Given the description of an element on the screen output the (x, y) to click on. 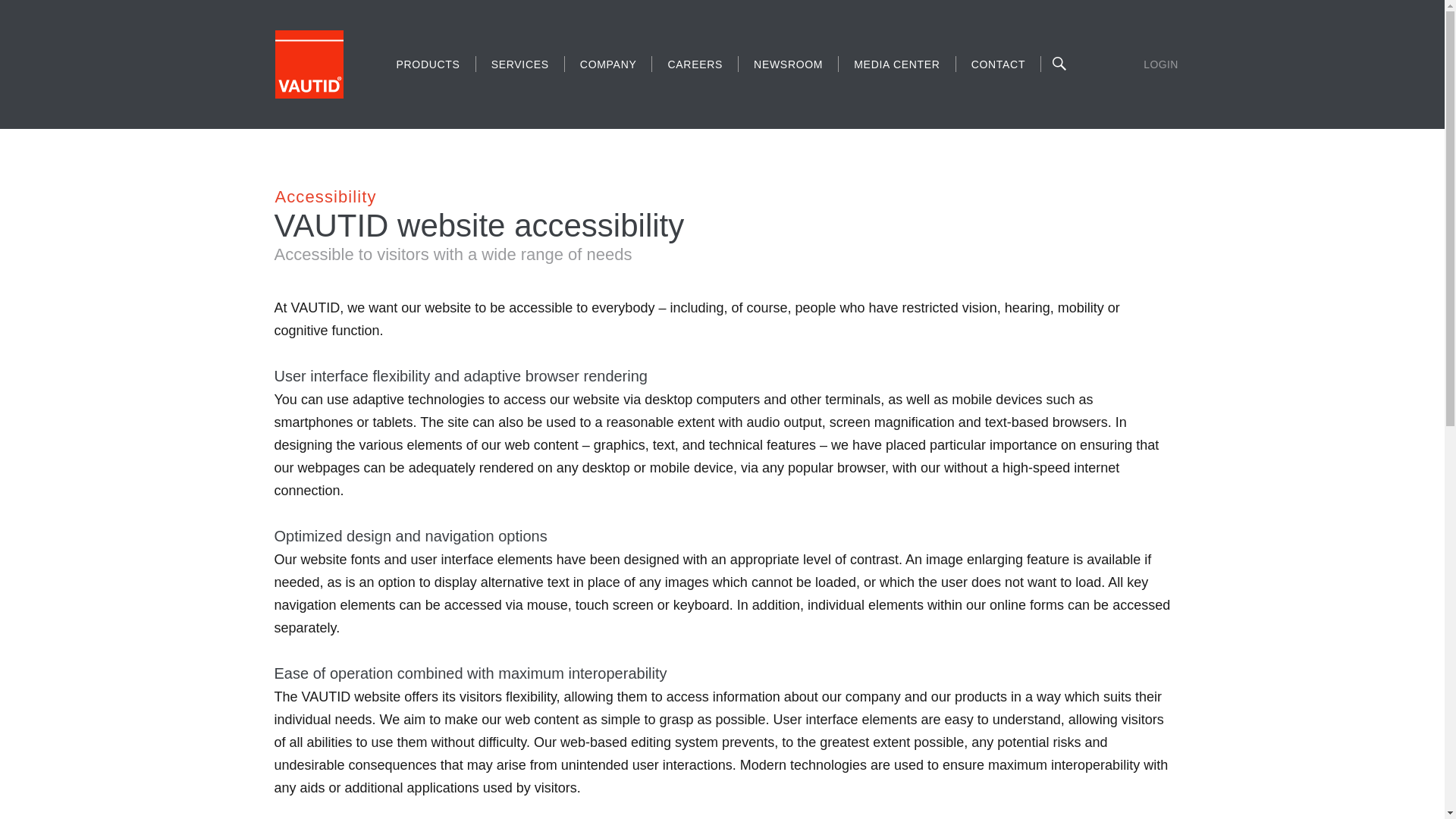
PRODUCTS (428, 64)
